Given the description of an element on the screen output the (x, y) to click on. 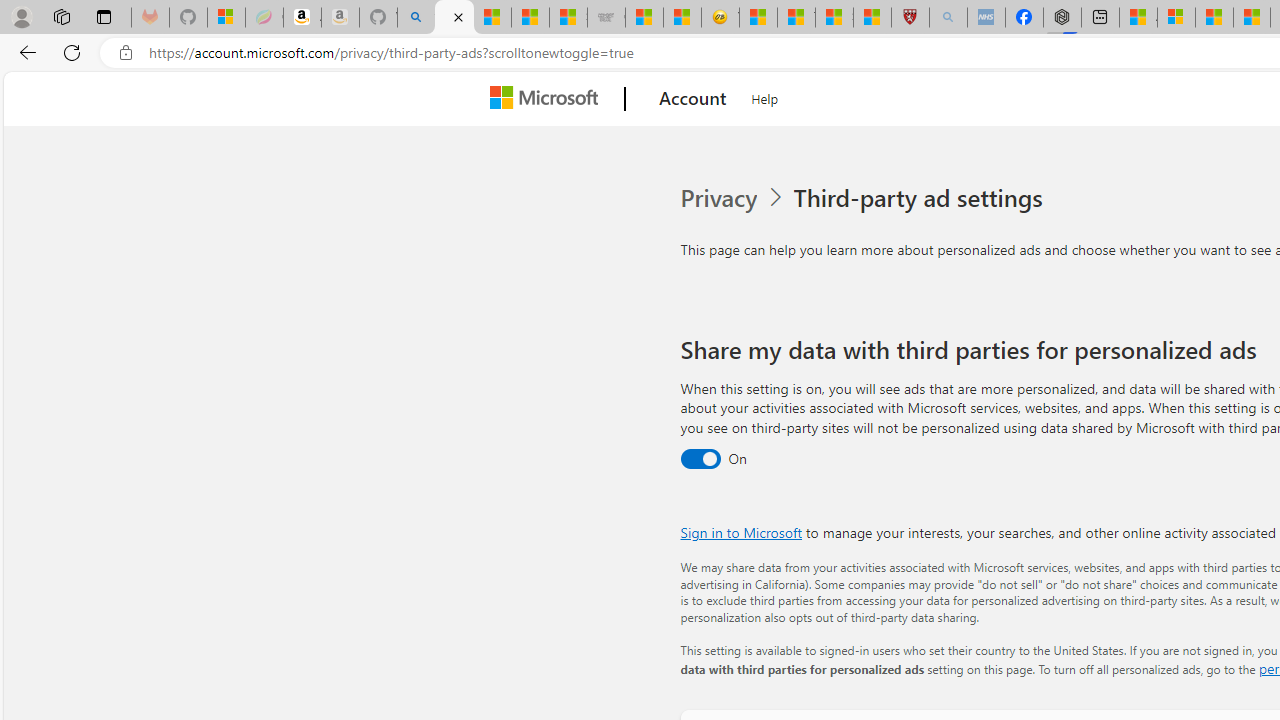
Help (765, 96)
Stocks - MSN (568, 17)
Privacy (734, 197)
Help (765, 96)
Third party data sharing toggle (699, 459)
Account (692, 99)
Robert H. Shmerling, MD - Harvard Health (910, 17)
NCL Adult Asthma Inhaler Choice Guideline - Sleeping (985, 17)
